Given the description of an element on the screen output the (x, y) to click on. 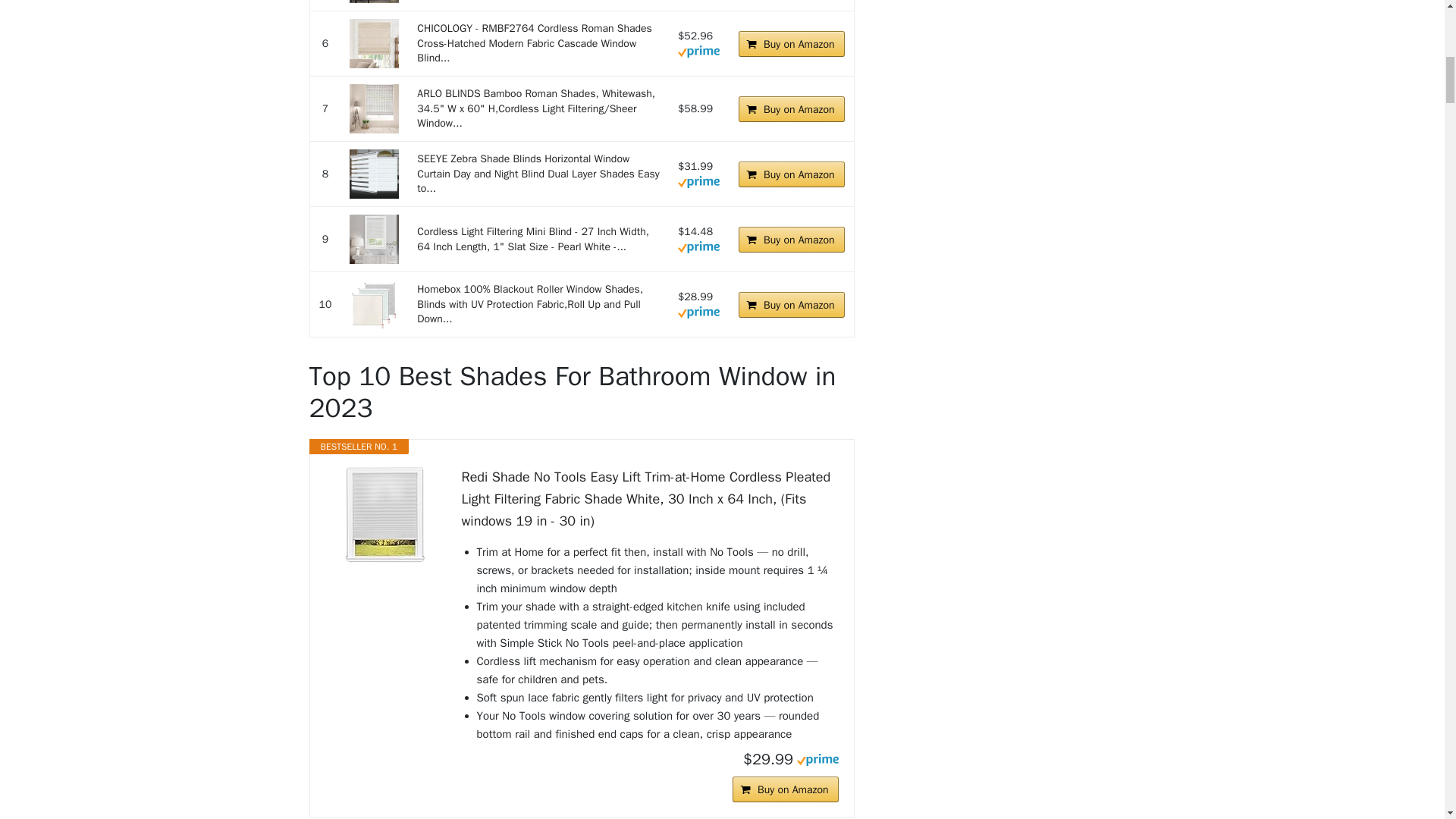
Buy on Amazon (791, 43)
Buy on Amazon (791, 174)
Buy on Amazon (791, 109)
